Given the description of an element on the screen output the (x, y) to click on. 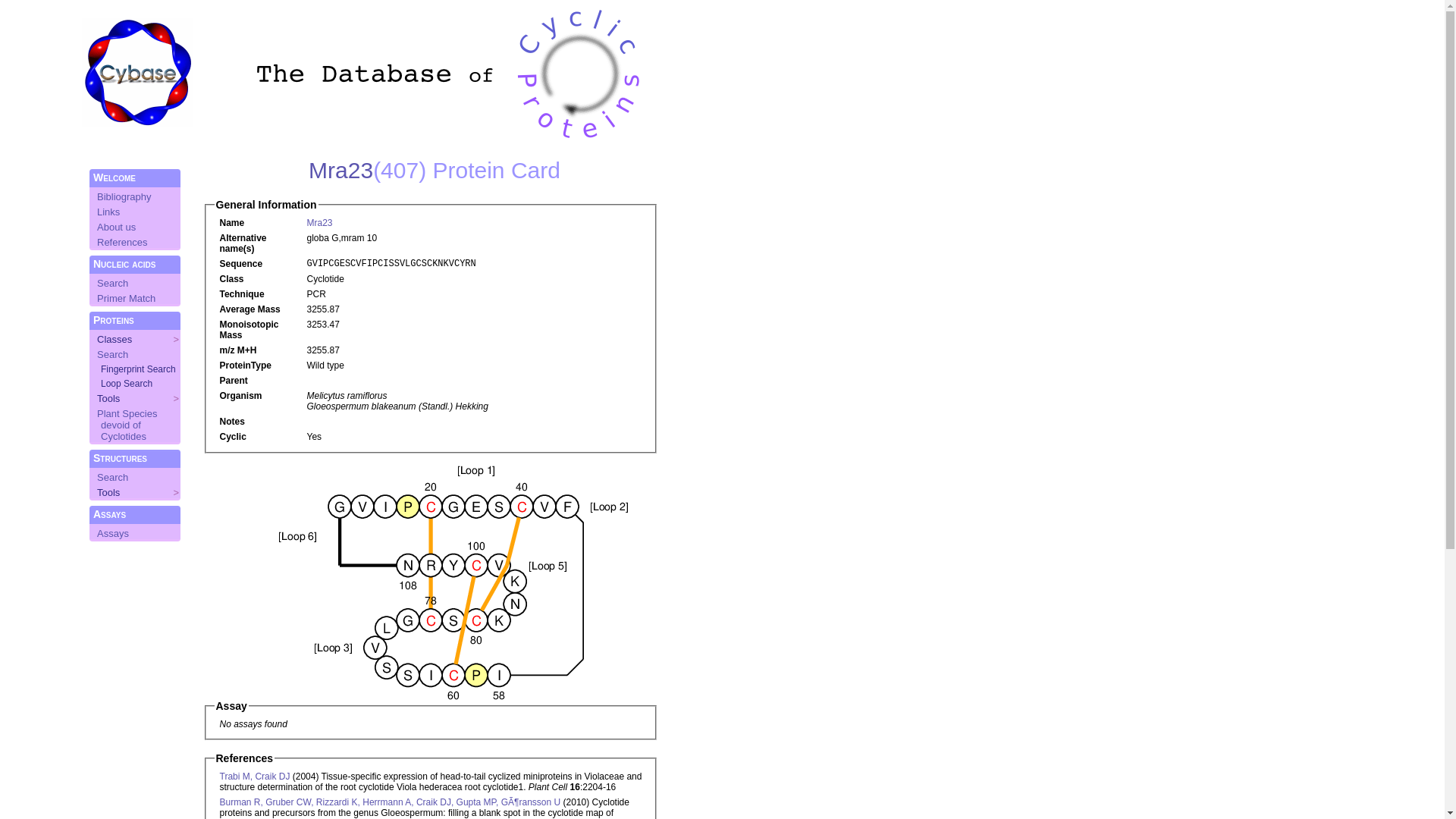
Bibliography Element type: text (124, 196)
Loop Search Element type: text (126, 383)
Primer Match Element type: text (126, 298)
Links Element type: text (108, 211)
Structures Element type: text (120, 457)
Mra23 Element type: text (340, 169)
About us Element type: text (116, 226)
Fingerprint Search Element type: text (137, 369)
Proteins Element type: text (113, 319)
Nucleic acids Element type: text (124, 263)
Assays Element type: text (112, 533)
Search Element type: text (112, 282)
Trabi M, Craik DJ Element type: text (254, 776)
Assays Element type: text (109, 514)
Plant Species devoid of Cyclotides Element type: text (127, 424)
References Element type: text (122, 241)
Search Element type: text (112, 477)
Mra23 Element type: text (319, 222)
Search Element type: text (112, 354)
Welcome Element type: text (114, 177)
